Given the description of an element on the screen output the (x, y) to click on. 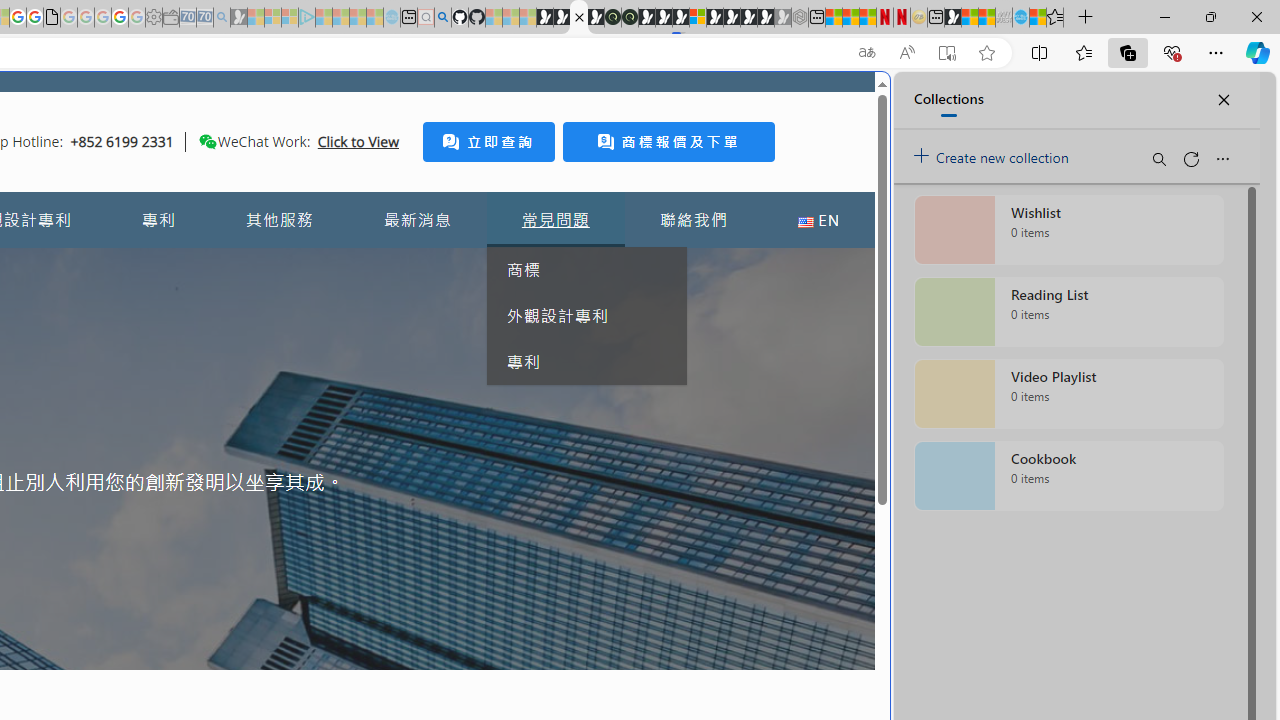
MSN (952, 17)
Play Free Online Games | Games from Microsoft Start (731, 17)
Bing Real Estate - Home sales and rental listings - Sleeping (221, 17)
World - MSN (969, 17)
